Given the description of an element on the screen output the (x, y) to click on. 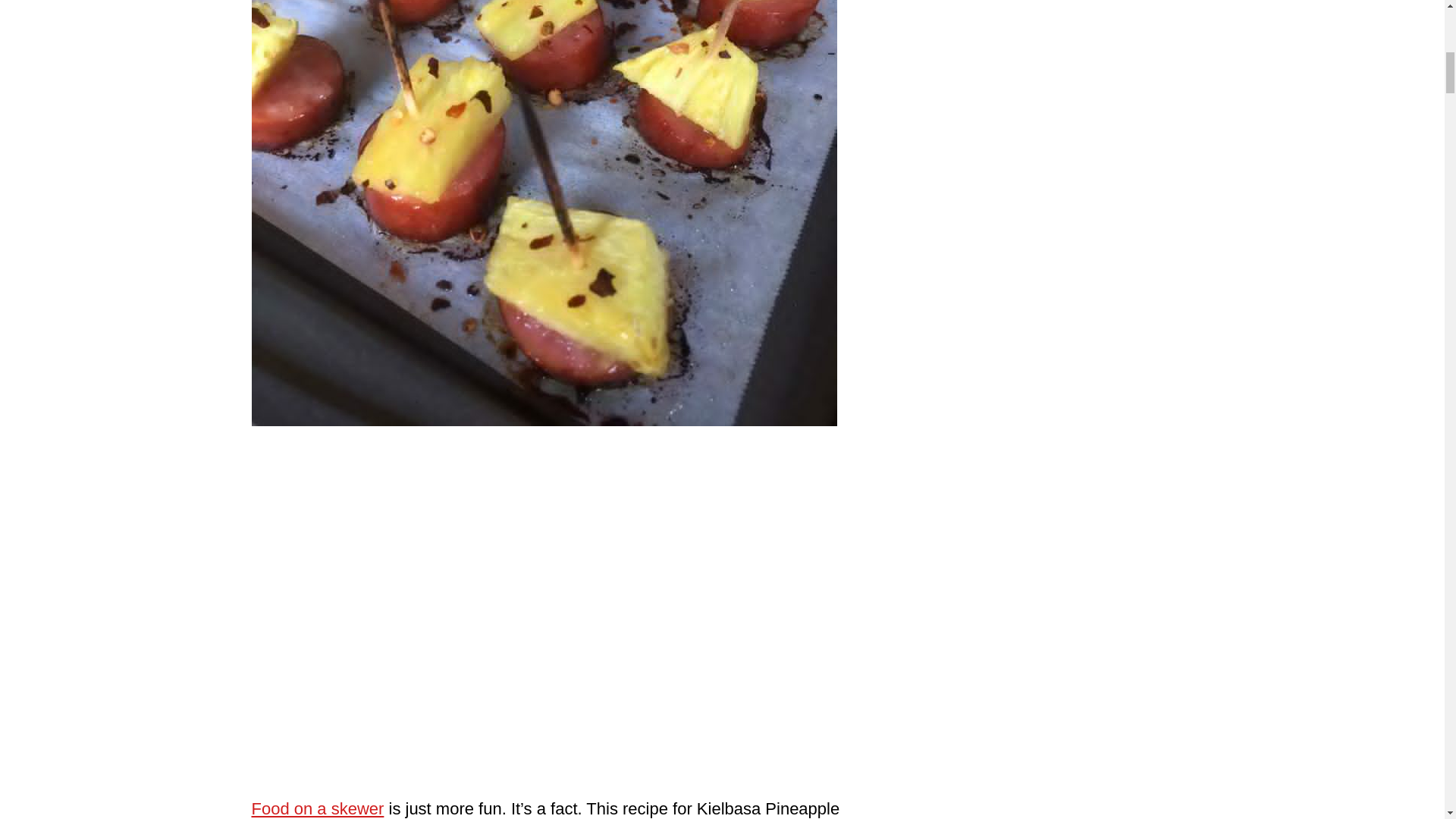
Food on a skewer (317, 808)
